Given the description of an element on the screen output the (x, y) to click on. 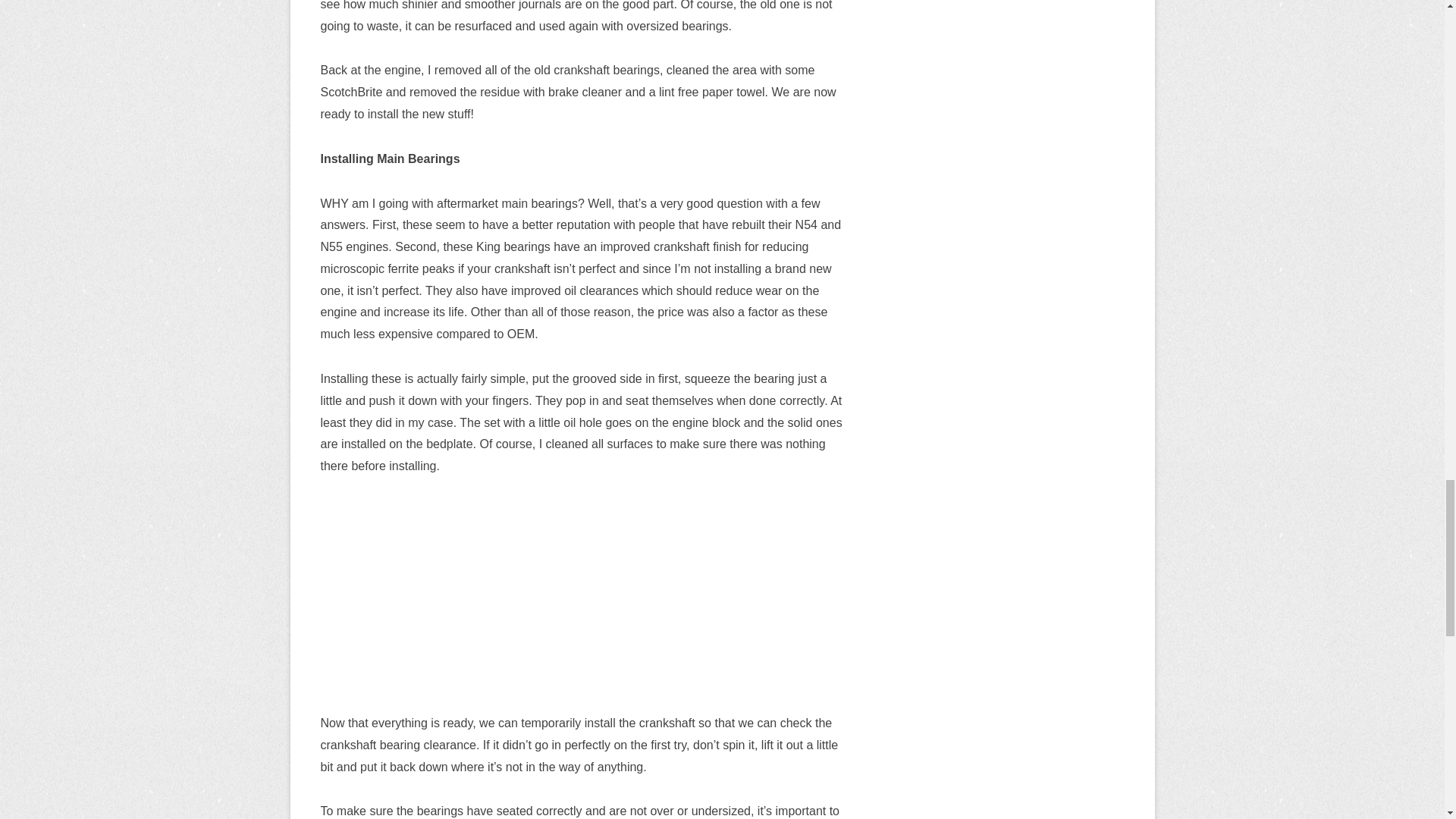
Advertisement (581, 606)
